Given the description of an element on the screen output the (x, y) to click on. 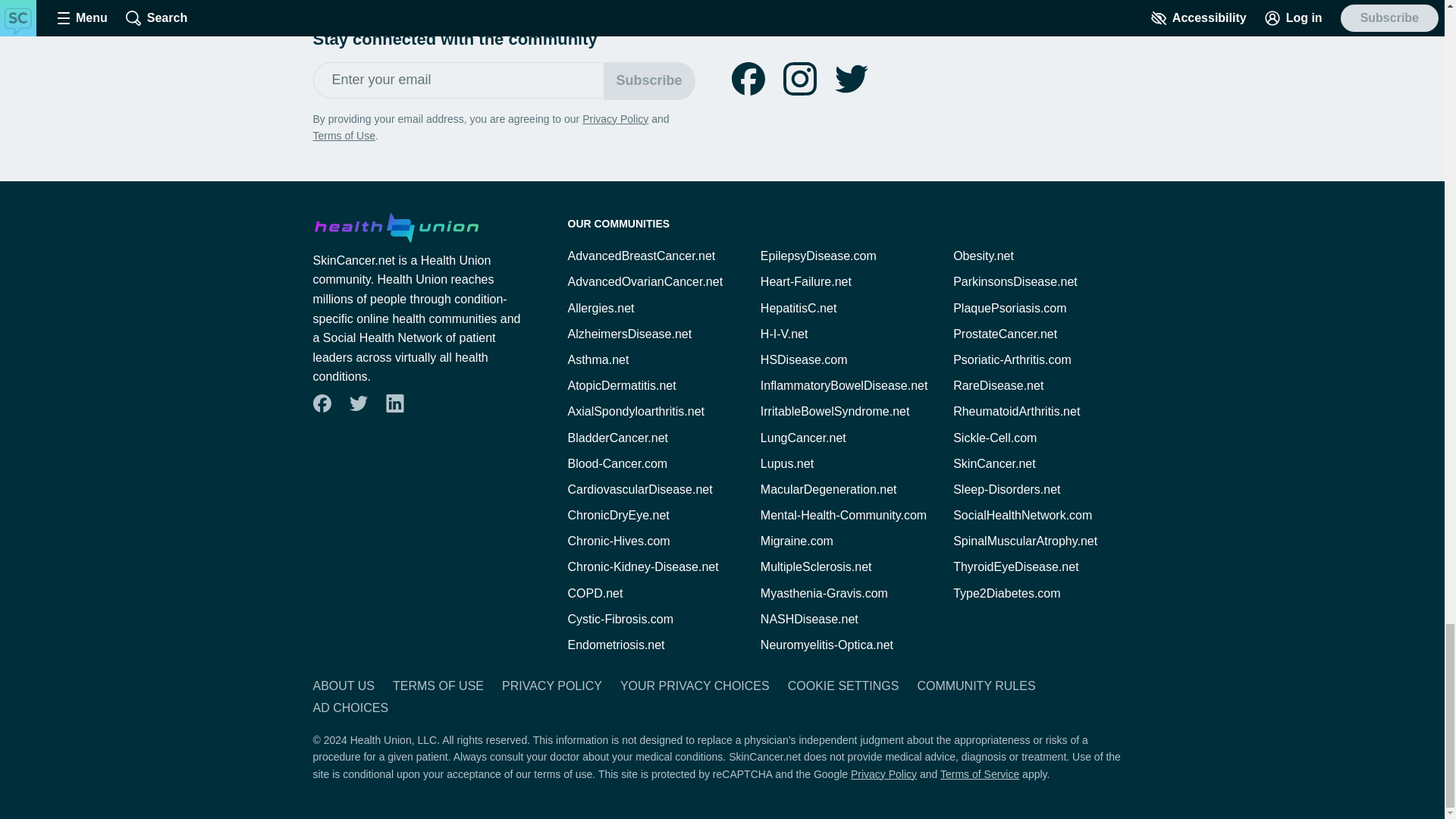
Follow us on instagram (799, 78)
Follow us on facebook (321, 402)
Follow us on twitter (850, 78)
Follow us on facebook (747, 78)
